Given the description of an element on the screen output the (x, y) to click on. 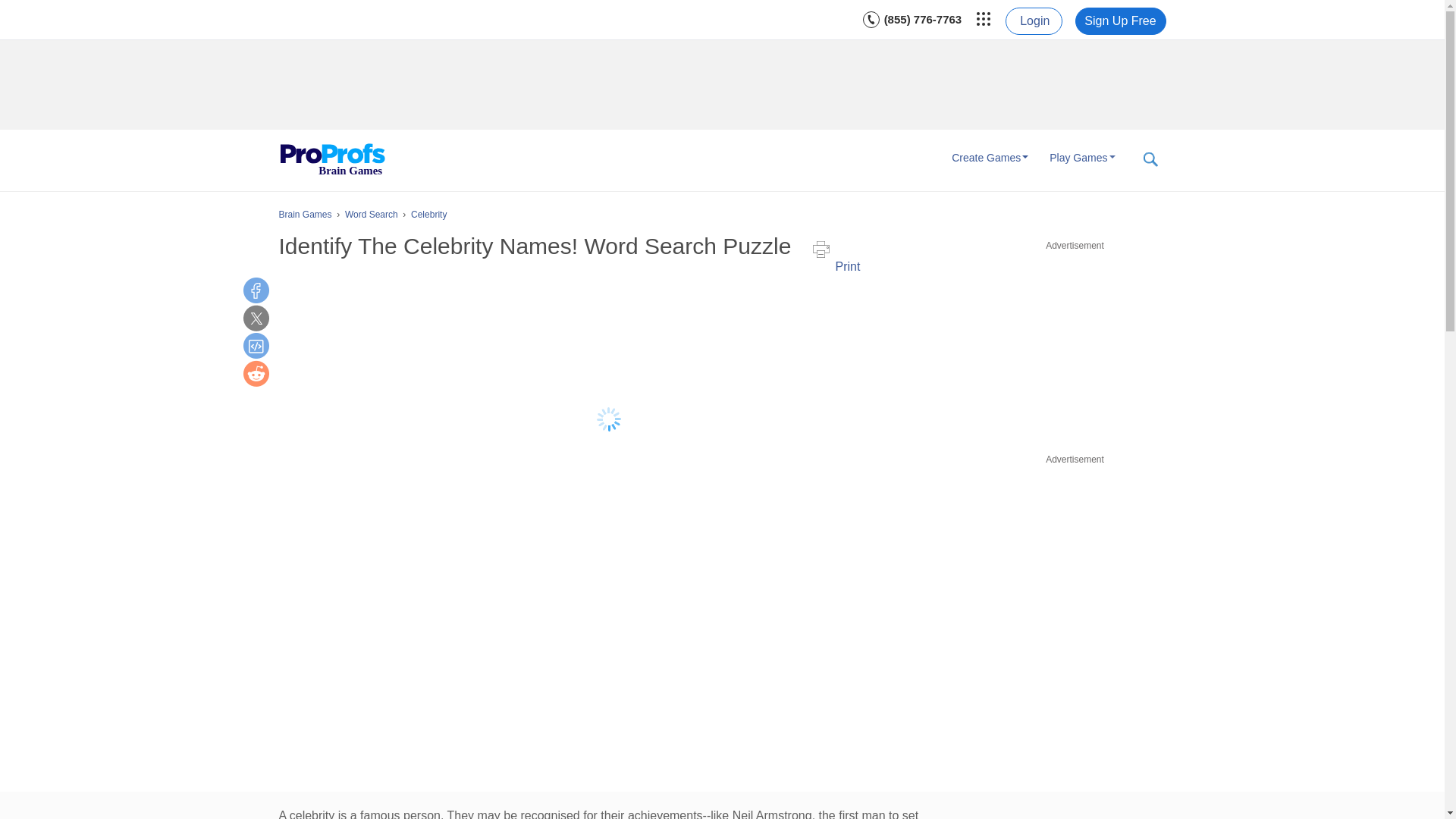
Brain Games (332, 160)
Sign Up Free (1120, 21)
Login (1033, 21)
Login (1033, 21)
Brain Games (332, 160)
printer Created with Sketch. (820, 248)
Sign Up Free (1120, 21)
